Given the description of an element on the screen output the (x, y) to click on. 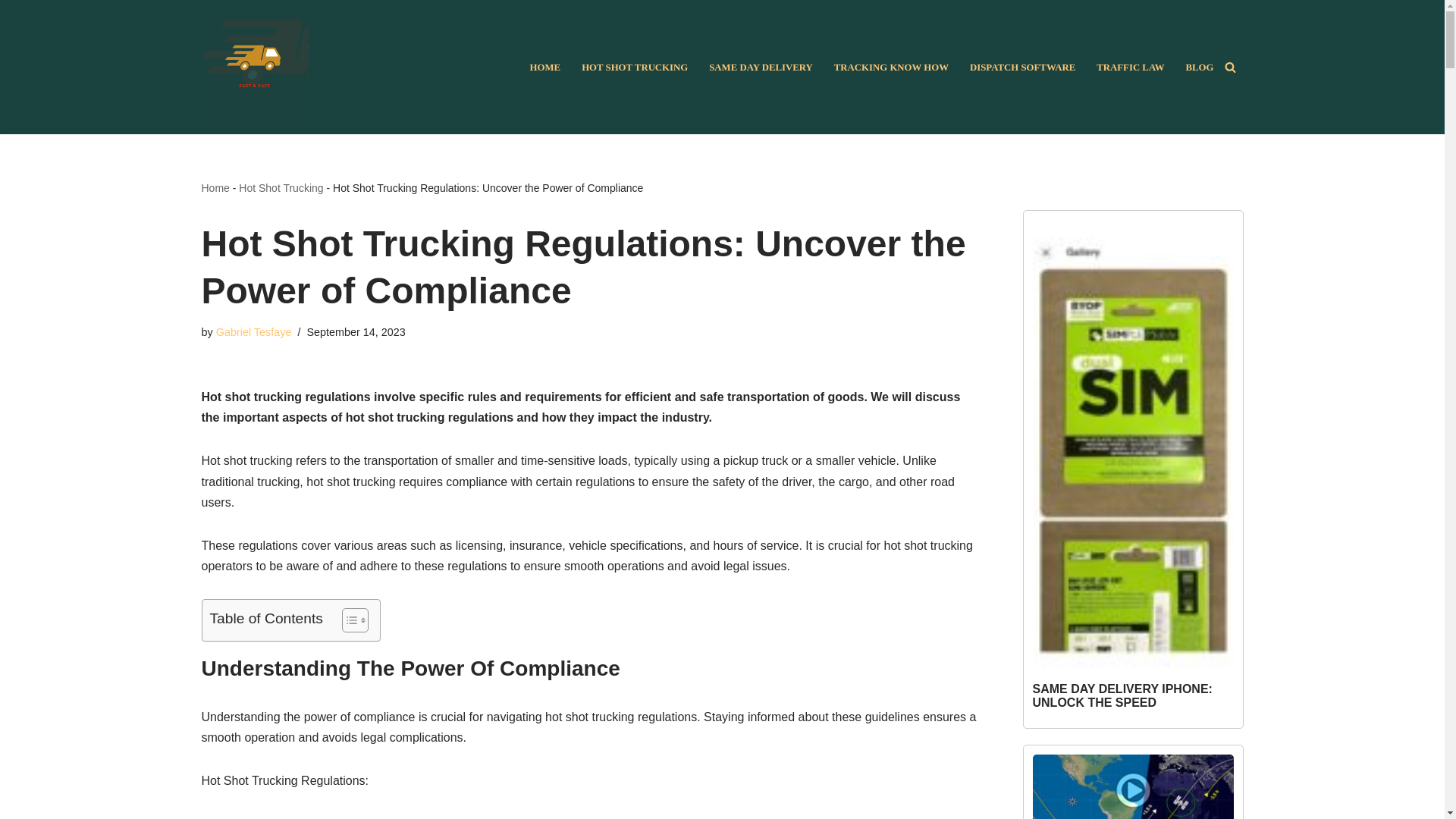
TRAFFIC LAW (1129, 66)
Skip to content (11, 31)
HOT SHOT TRUCKING (633, 66)
SAME DAY DELIVERY (760, 66)
Gabriel Tesfaye (253, 331)
BLOG (1200, 66)
Posts by Gabriel Tesfaye (253, 331)
TRACKING KNOW HOW (891, 66)
Hot Shot Trucking (280, 187)
HOME (544, 66)
